Given the description of an element on the screen output the (x, y) to click on. 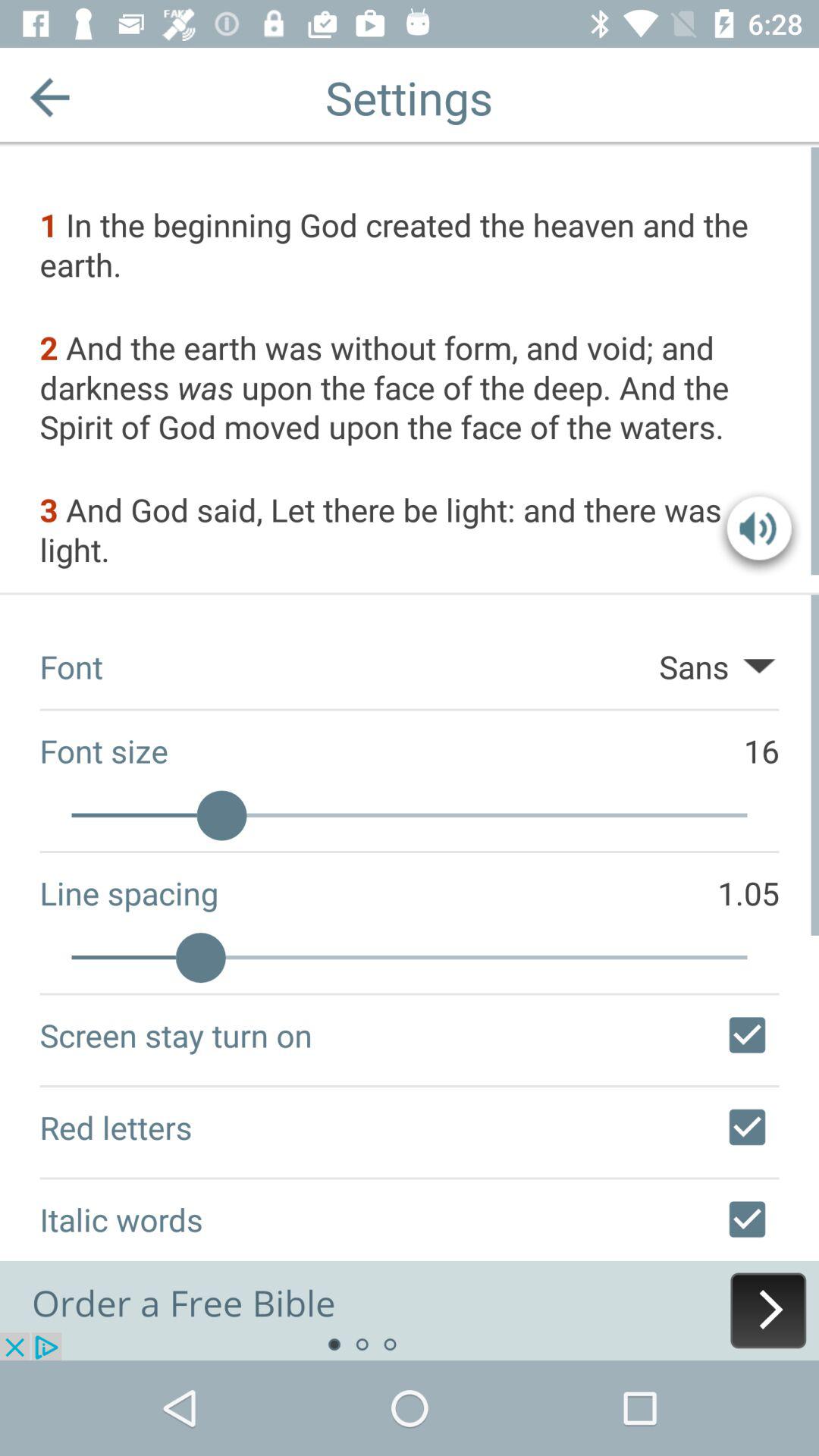
select italic words (747, 1219)
